Given the description of an element on the screen output the (x, y) to click on. 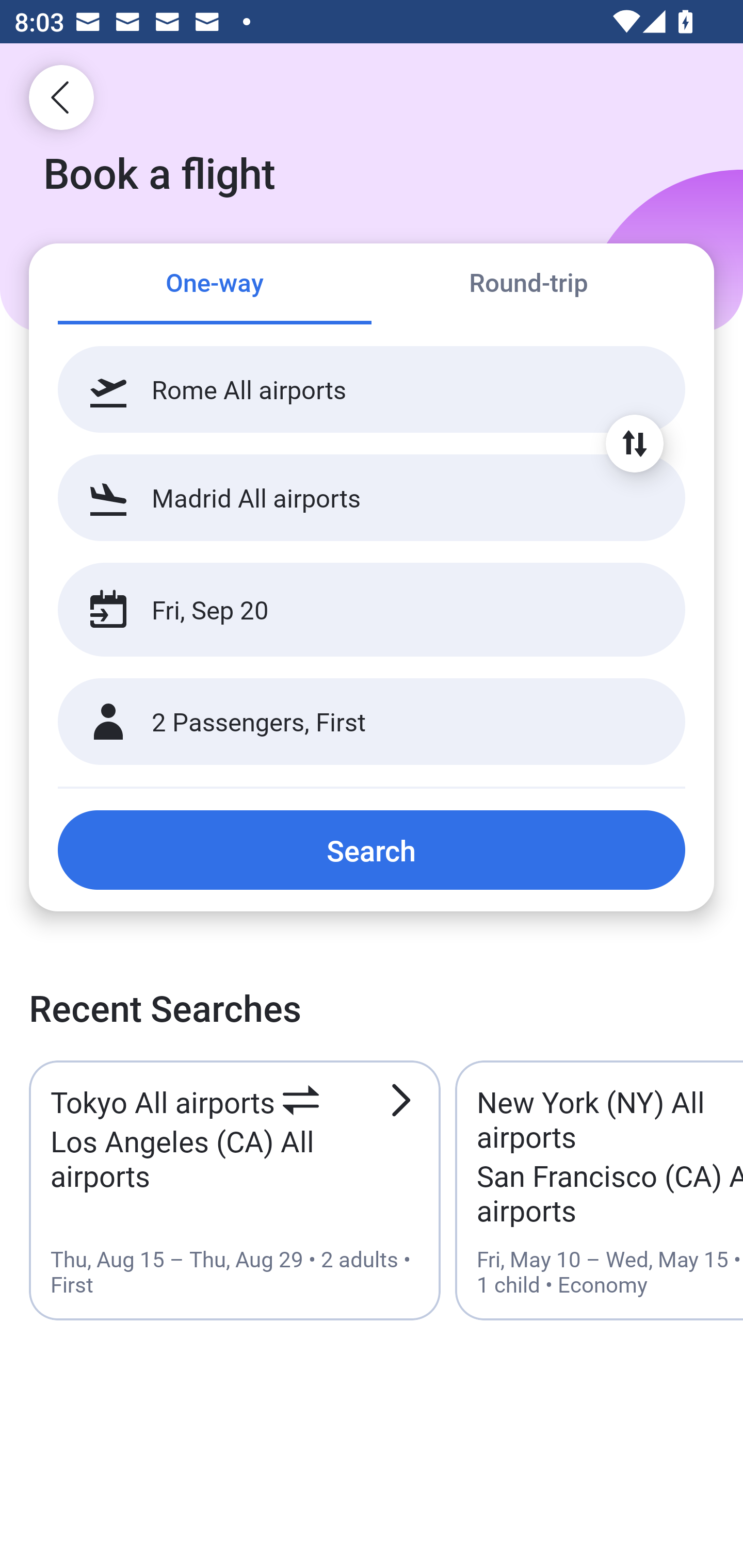
Round-trip (528, 284)
Rome All airports (371, 389)
Madrid All airports (371, 497)
Fri, Sep 20 (349, 609)
2 Passengers, First (371, 721)
Search (371, 849)
